Given the description of an element on the screen output the (x, y) to click on. 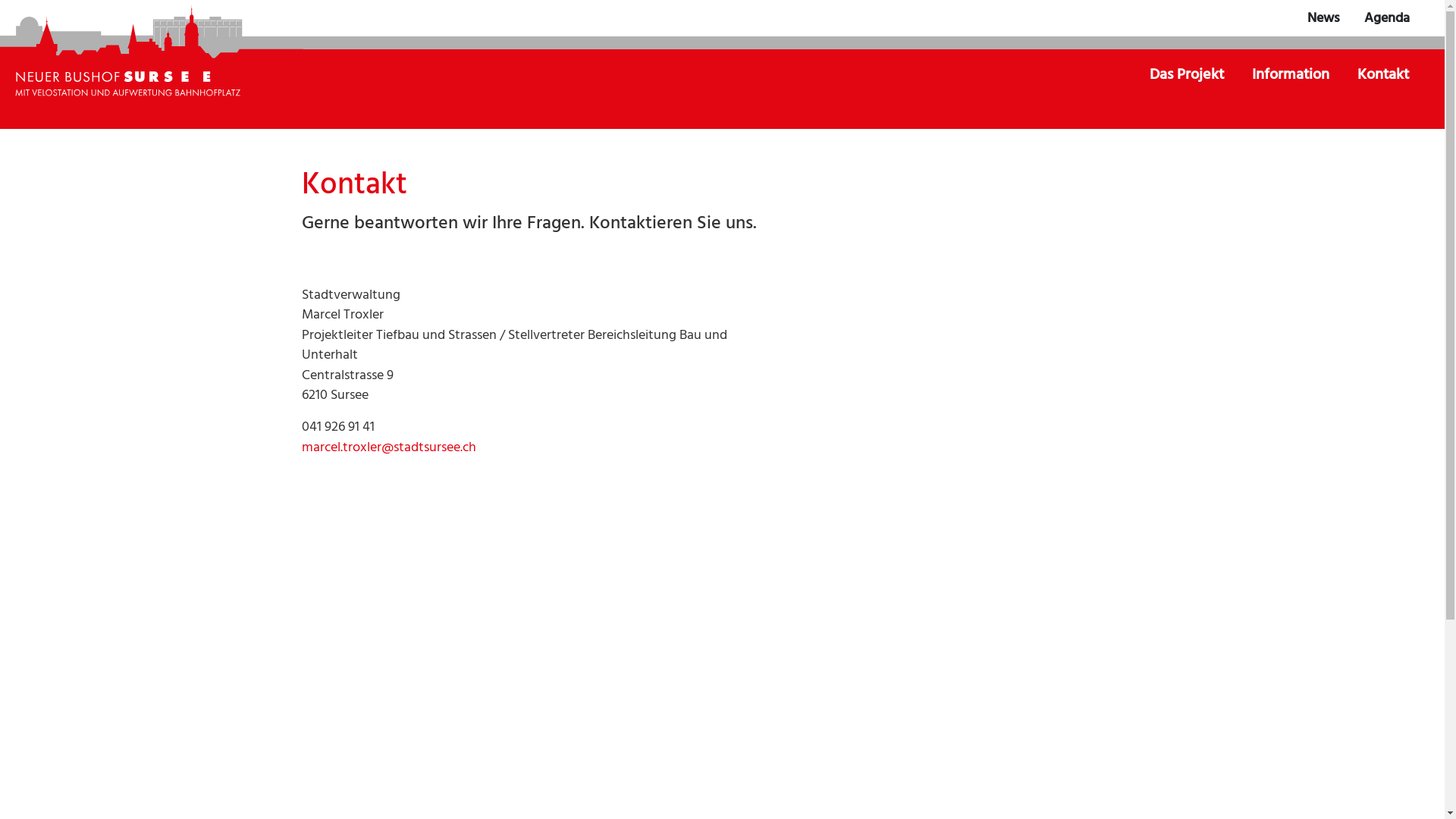
Kontakt Element type: text (1382, 74)
Das Projekt Element type: text (1187, 74)
marcel.troxler@stadtsursee.ch Element type: text (388, 447)
Information Element type: text (1291, 74)
Agenda Element type: text (1386, 18)
News Element type: text (1323, 18)
